Given the description of an element on the screen output the (x, y) to click on. 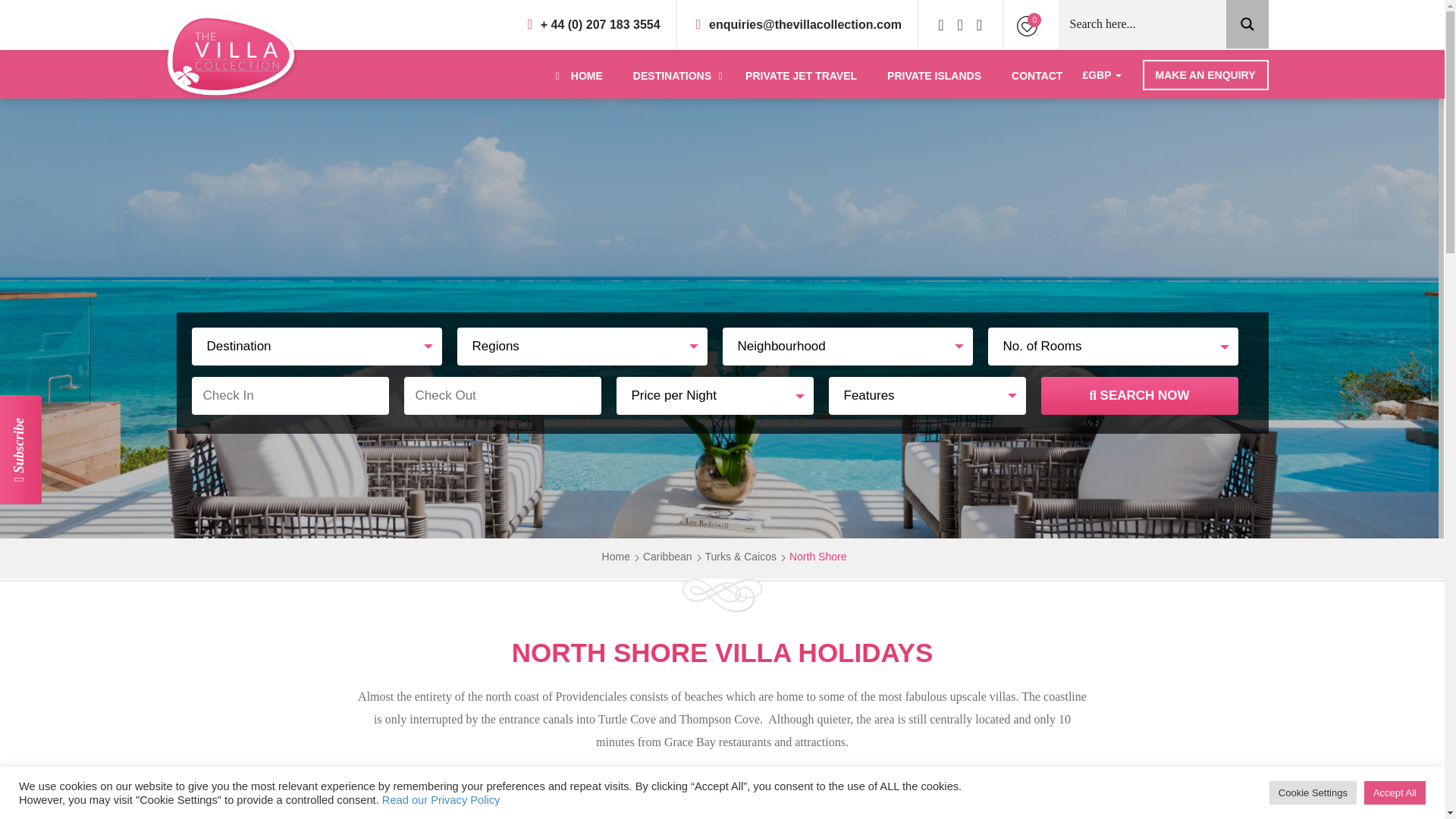
Make an Enquiry (1205, 74)
DESTINATIONS (673, 75)
Destination (315, 346)
DECLINE COOKIES (1020, 807)
HOME (576, 75)
No. of Rooms (1112, 346)
Shortlist (1026, 24)
read about them here (619, 807)
read about our cookies (619, 807)
ACCEPT COOKIES (915, 807)
Regions (581, 346)
Neighbourhood (847, 346)
0 (1026, 24)
GBP (1101, 74)
The Villa Collection (232, 55)
